Given the description of an element on the screen output the (x, y) to click on. 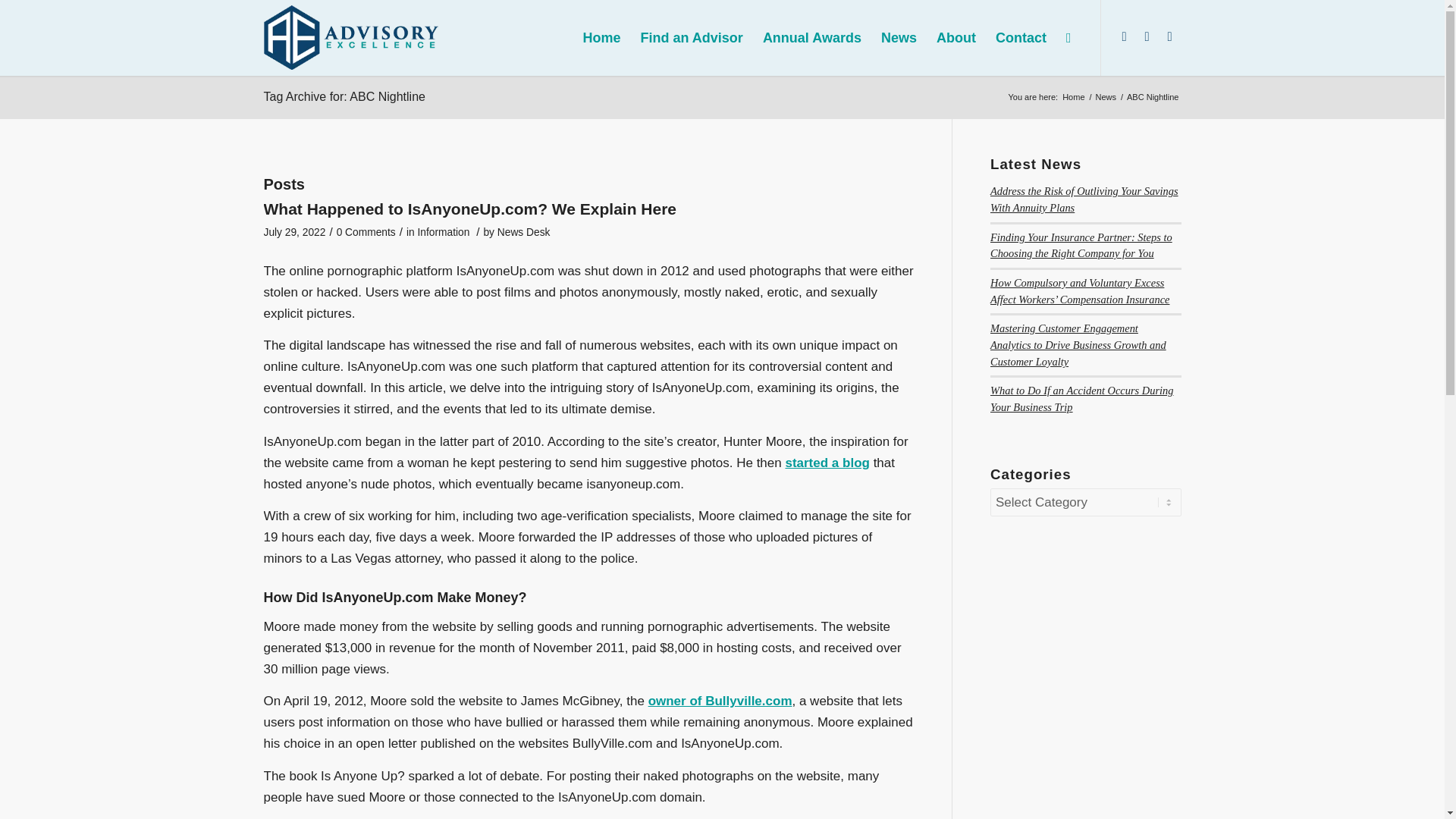
0 Comments (366, 232)
Advisory Excellence (1072, 97)
News (1106, 97)
Advisory-Excellence-logo (351, 36)
Facebook (1169, 36)
Information (442, 232)
Annual Awards (811, 38)
What Happened to IsAnyoneUp.com? We Explain Here (470, 208)
Twitter (1146, 36)
